Given the description of an element on the screen output the (x, y) to click on. 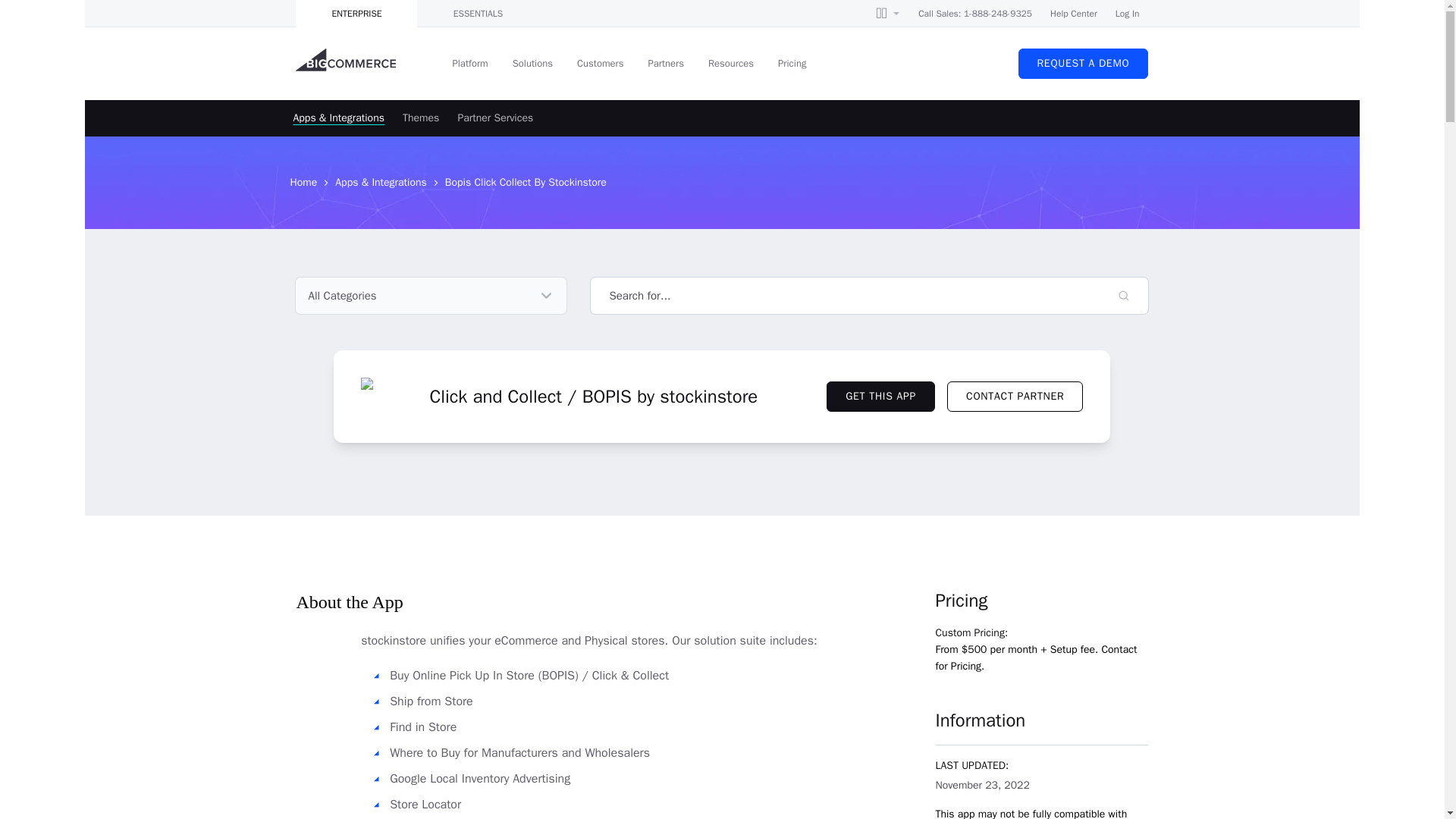
ENTERPRISE (355, 13)
ESSENTIALS (477, 13)
Help Center (1073, 13)
Call Sales: 1-888-248-9325 (975, 13)
